Given the description of an element on the screen output the (x, y) to click on. 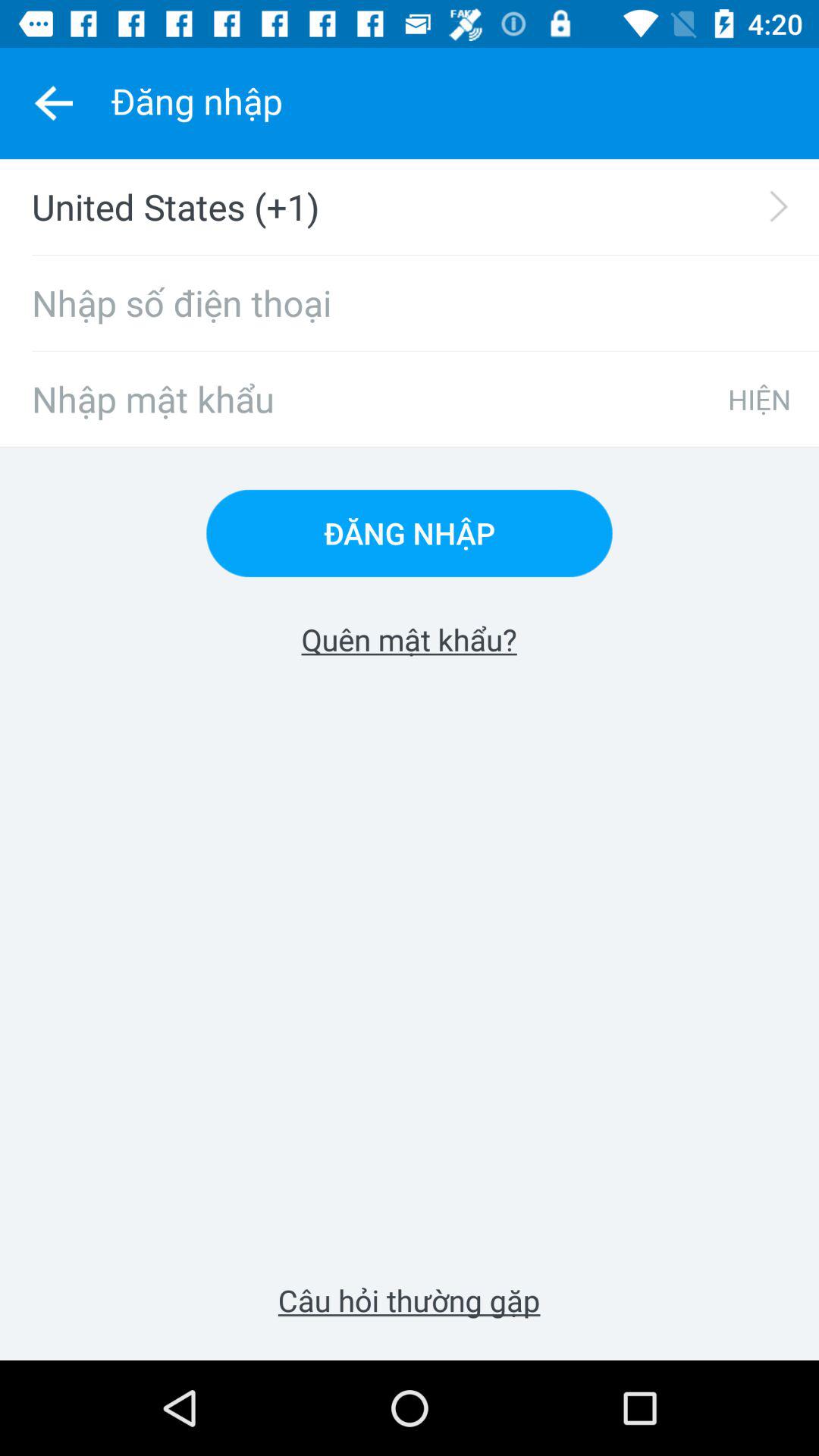
turn off united states (+1) (419, 206)
